Given the description of an element on the screen output the (x, y) to click on. 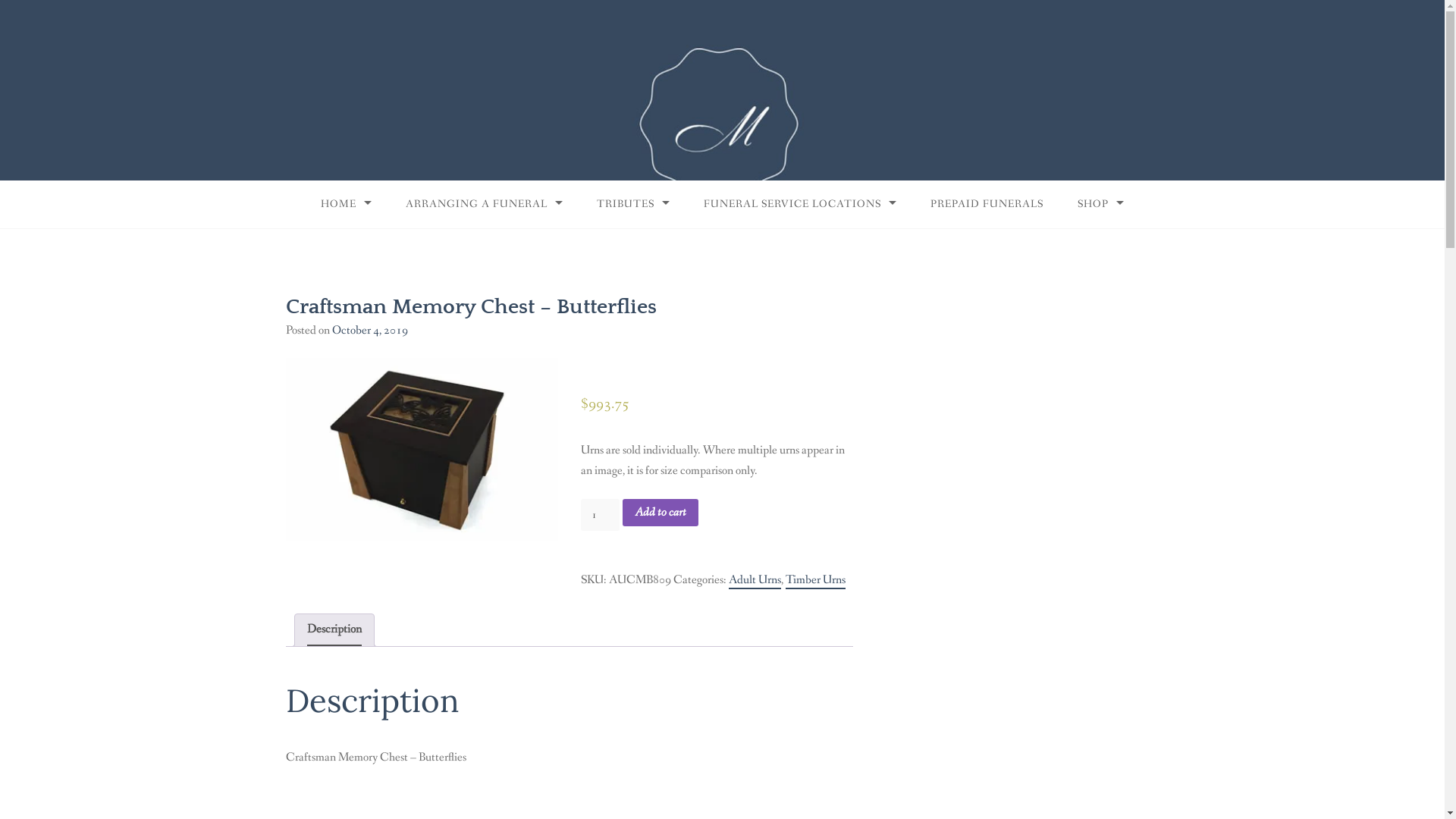
October 4, 2019 Element type: text (369, 330)
ARRANGING A FUNERAL Element type: text (483, 204)
AUCMB809_Craftsman_Style_Chest_Butterflies Element type: hover (421, 449)
Adult Urns Element type: text (754, 580)
TRIBUTES Element type: text (632, 204)
McCartney Family Funerals Element type: text (277, 79)
PREPAID FUNERALS Element type: text (986, 204)
FUNERAL SERVICE LOCATIONS Element type: text (799, 204)
Search Element type: text (27, 15)
HOME Element type: text (345, 204)
SHOP Element type: text (1100, 204)
Add to cart Element type: text (660, 512)
Description Element type: text (333, 630)
Timber Urns Element type: text (815, 580)
